Given the description of an element on the screen output the (x, y) to click on. 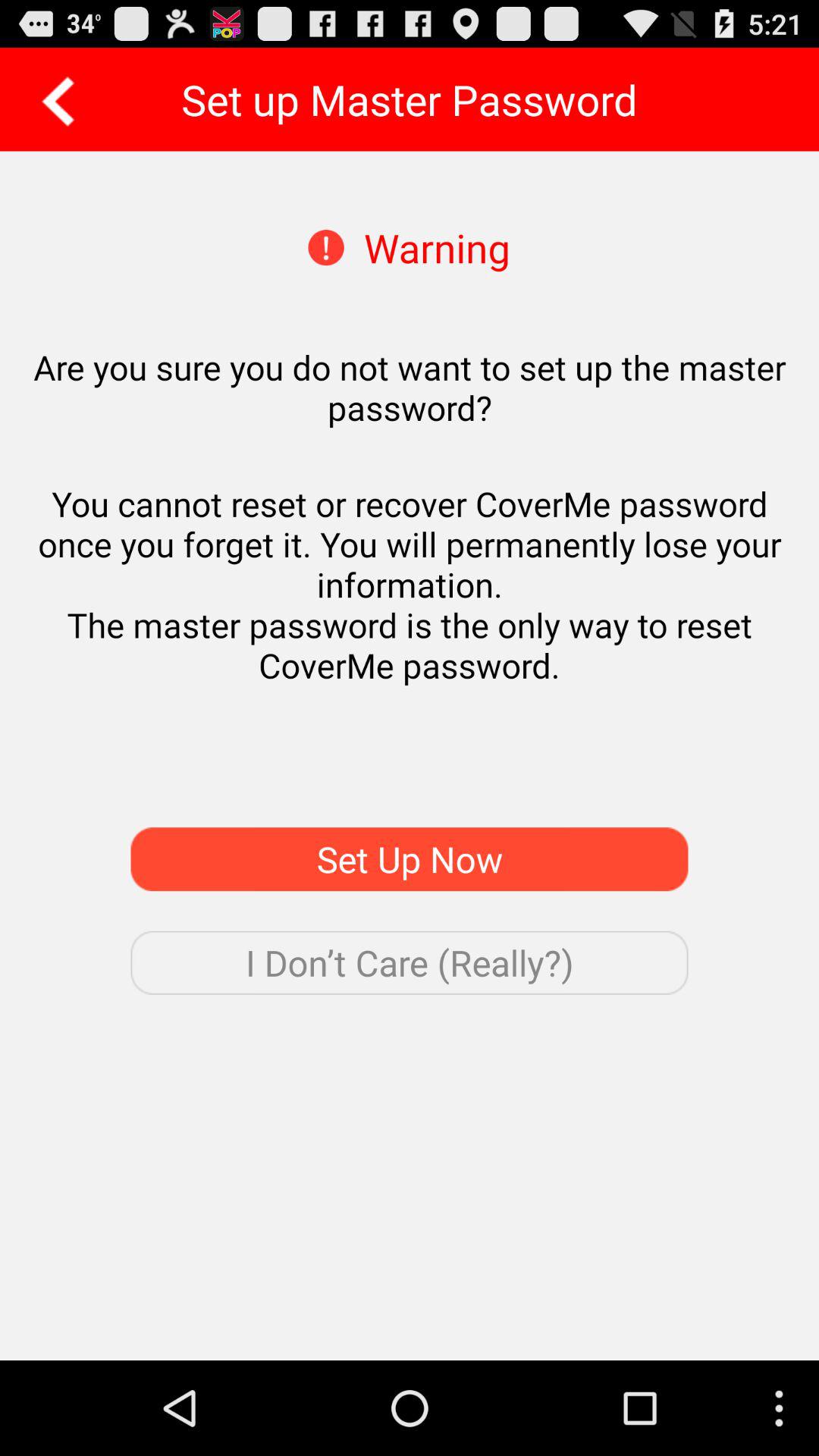
flip to the i don t icon (409, 962)
